Given the description of an element on the screen output the (x, y) to click on. 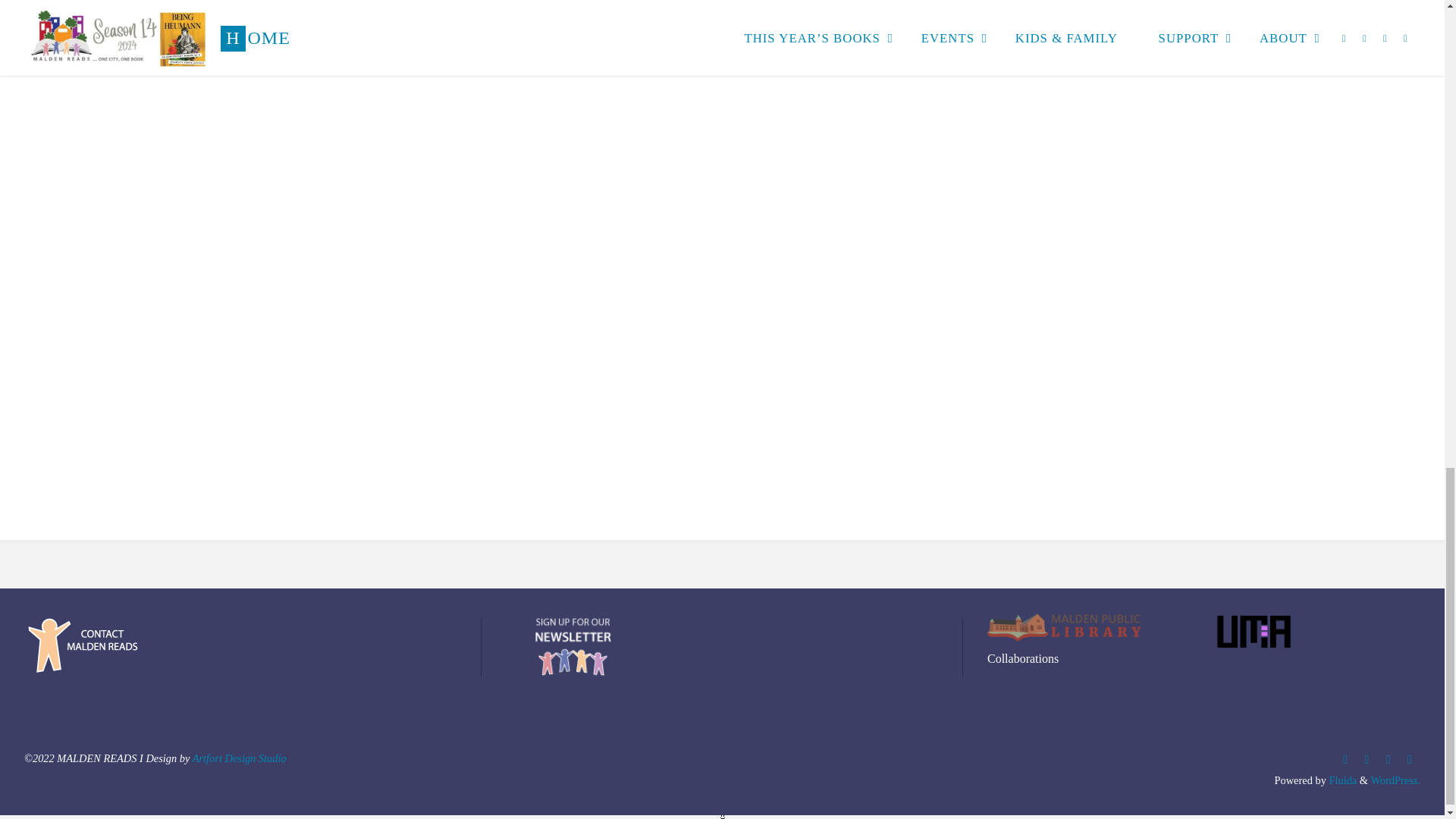
Instagram (1366, 760)
Facebook (1345, 760)
Flickr (1410, 760)
Twitter (1388, 760)
